Given the description of an element on the screen output the (x, y) to click on. 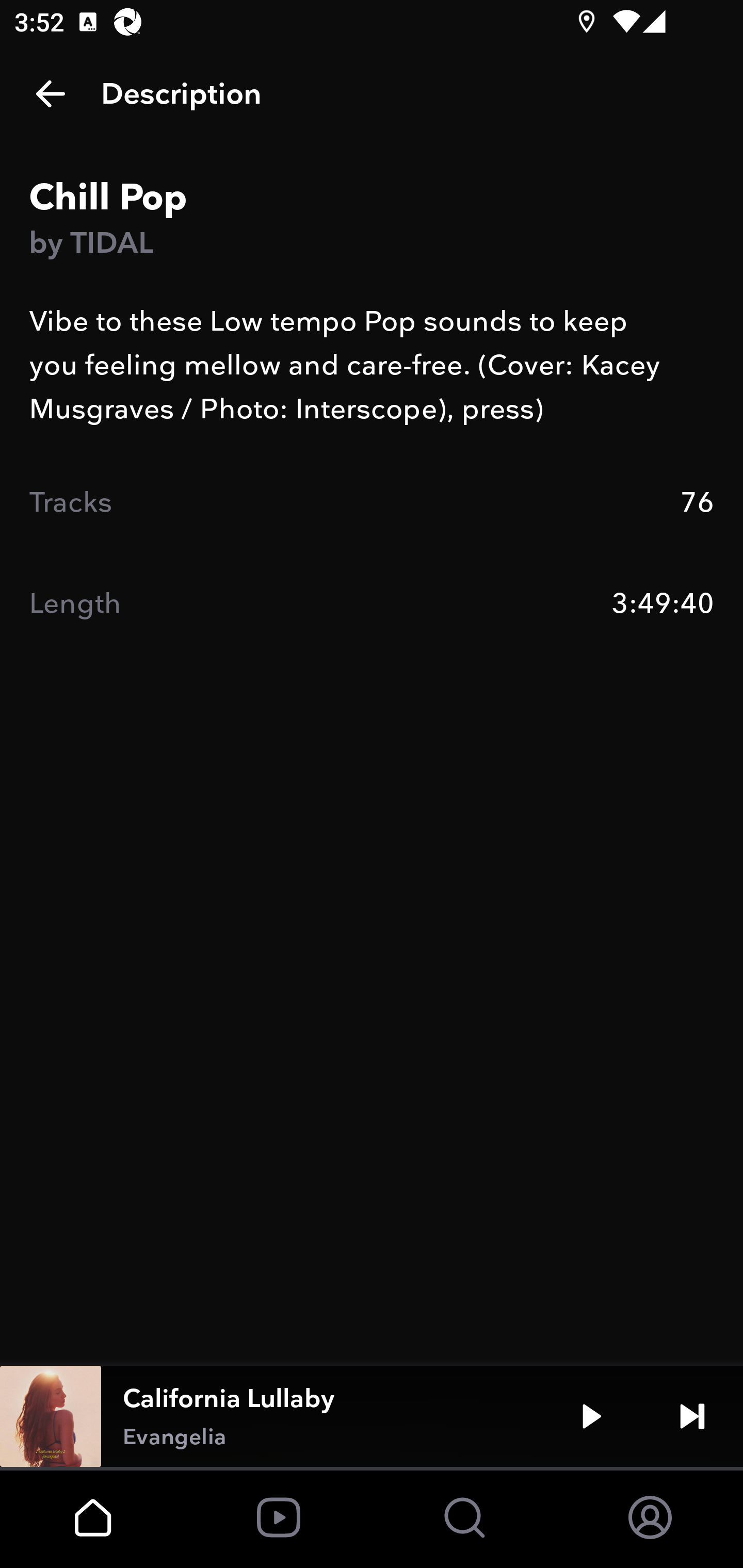
Back (50, 93)
California Lullaby Evangelia Play (371, 1416)
Play (590, 1416)
